Given the description of an element on the screen output the (x, y) to click on. 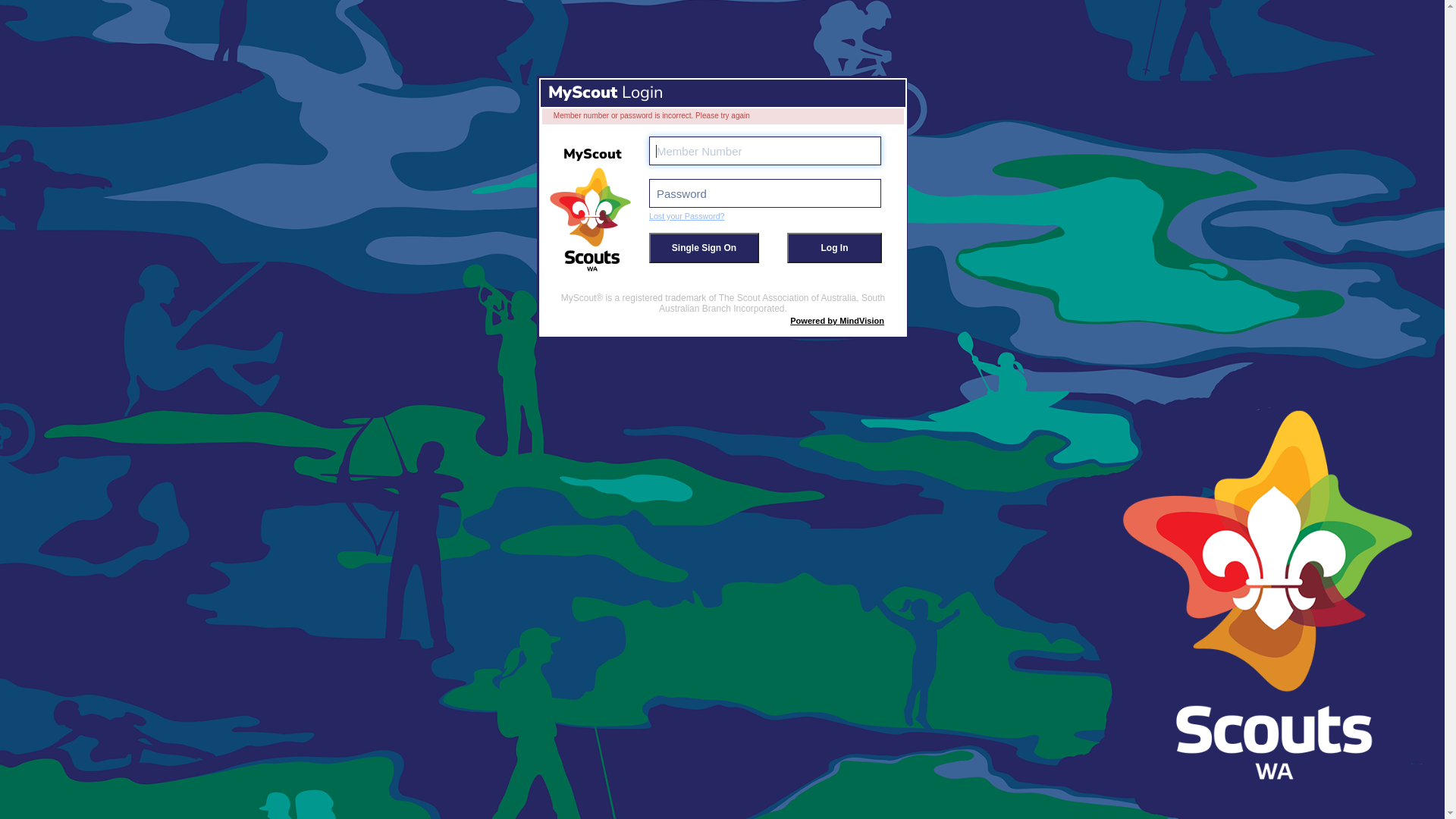
Powered by MindVision Element type: text (837, 320)
Lost your Password? Element type: text (686, 215)
Log In Element type: text (834, 247)
Single Sign On Element type: text (704, 247)
